Given the description of an element on the screen output the (x, y) to click on. 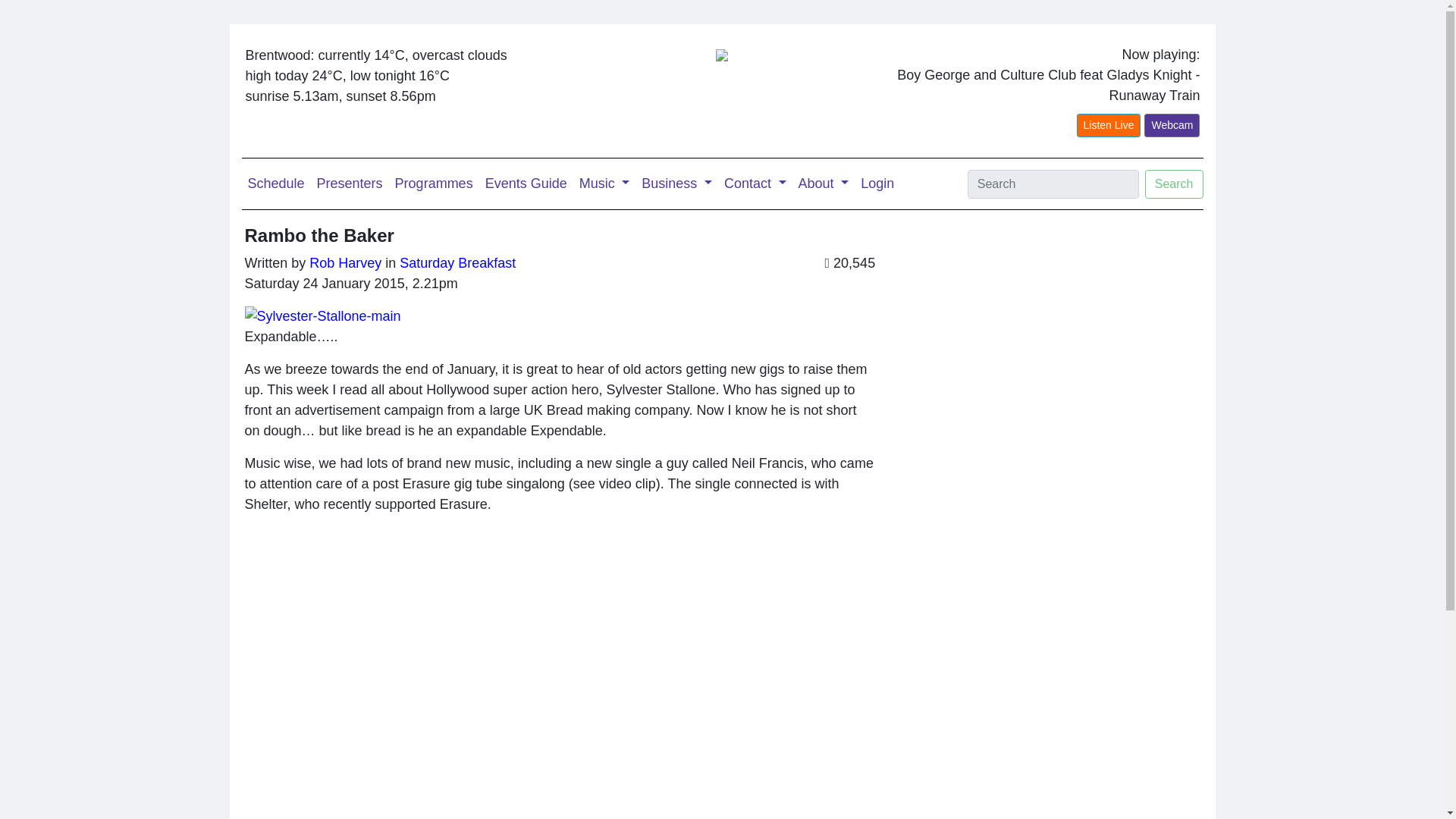
Programmes (433, 183)
Contact (754, 183)
Search (1174, 184)
Login (876, 183)
Rob Harvey (344, 263)
Events Guide (526, 183)
Presenters (349, 183)
Saturday Breakfast (456, 263)
Music (604, 183)
Webcam (1171, 125)
About (824, 183)
Schedule (275, 183)
Listen Live (1109, 125)
Posts by Rob Harvey (344, 263)
Business (675, 183)
